Given the description of an element on the screen output the (x, y) to click on. 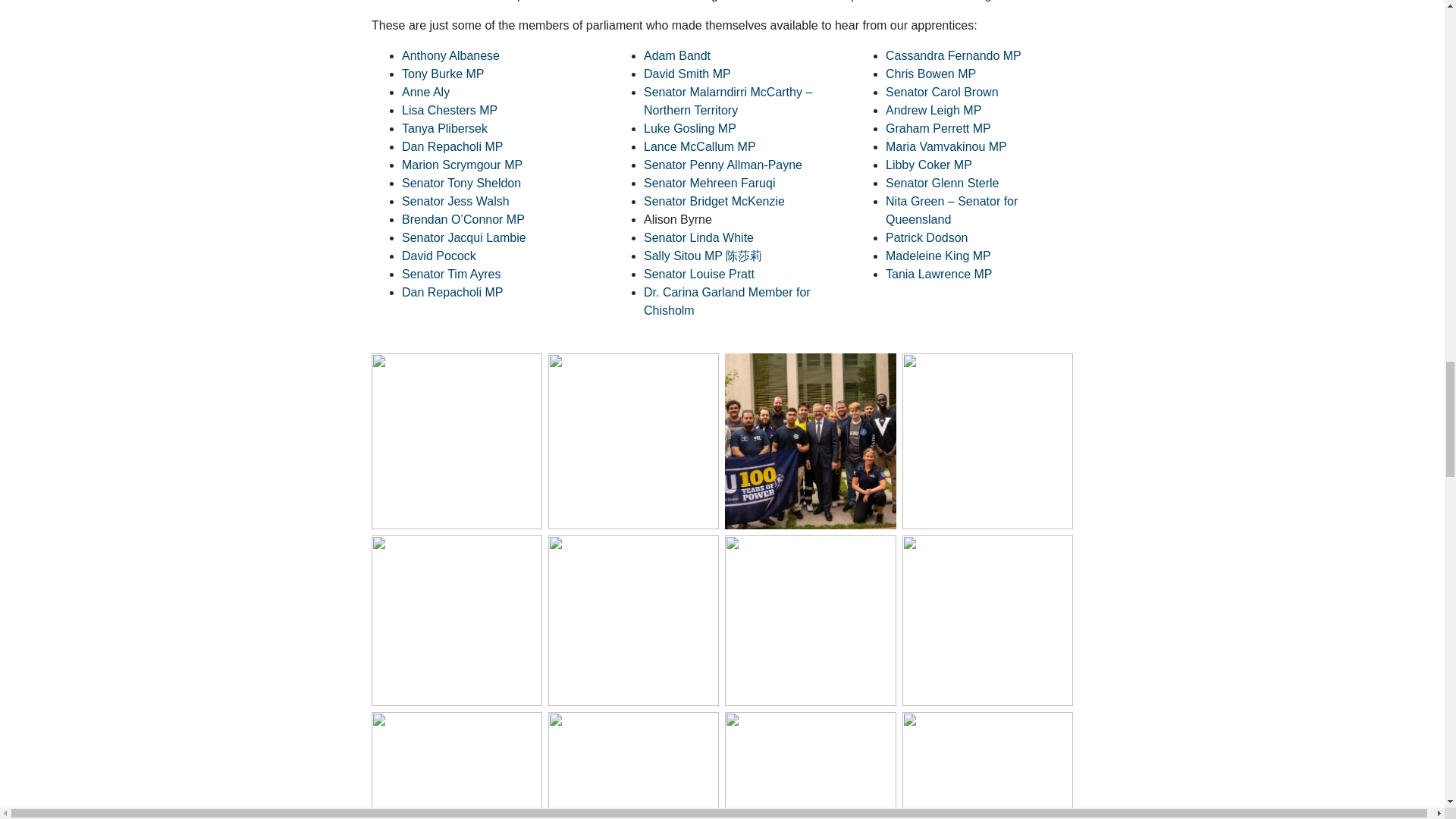
Lisa Chesters MP (449, 110)
Senator Tim Ayres (450, 273)
Senator Jacqui Lambie (463, 237)
Tanya Plibersek (444, 128)
Senator Jess Walsh (455, 201)
Adam Bandt (676, 55)
Anthony Albanese (450, 55)
Dan Repacholi MP (451, 291)
Marion Scrymgour MP (461, 164)
Dan Repacholi MP (451, 146)
